Given the description of an element on the screen output the (x, y) to click on. 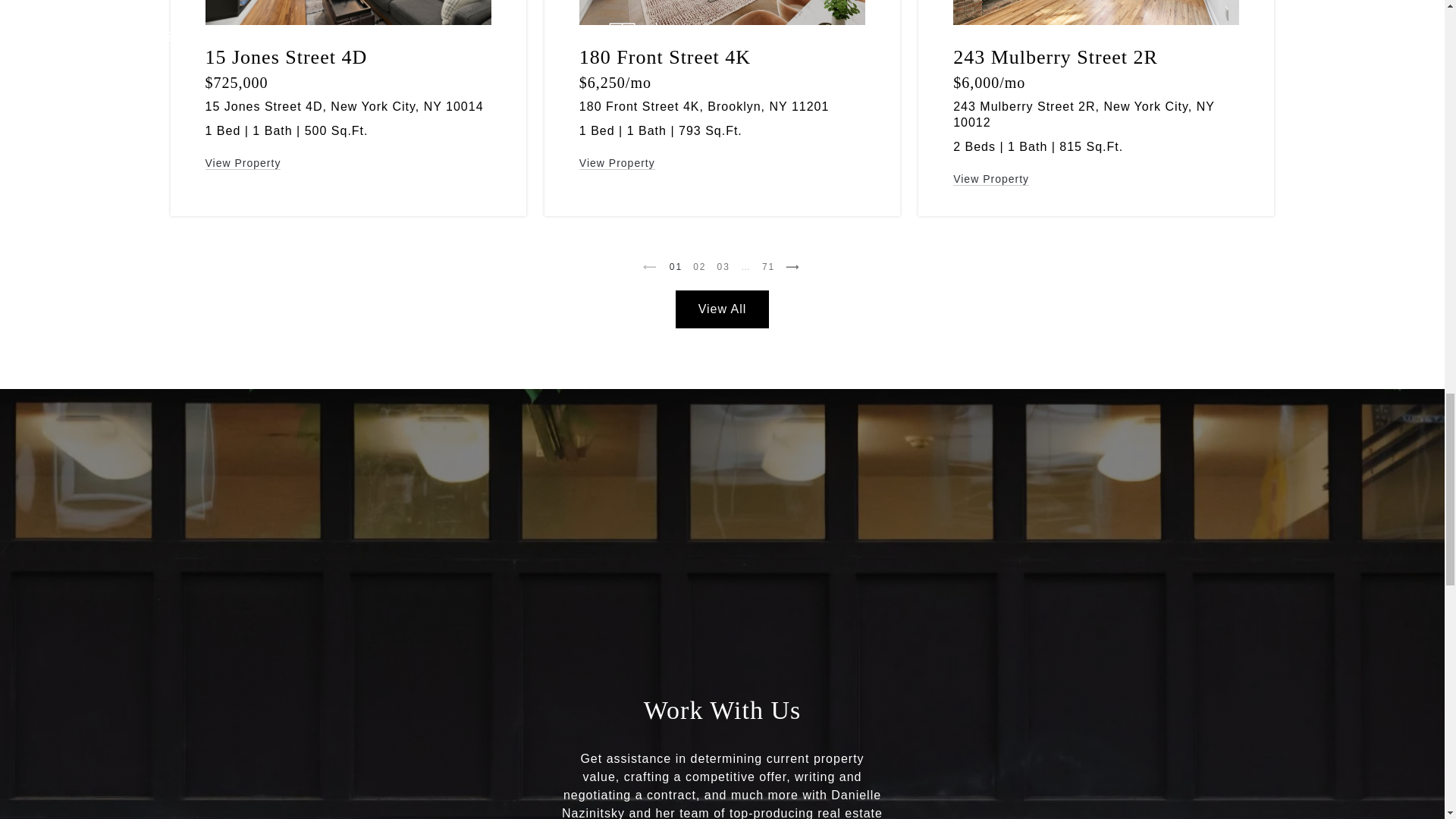
Next page (793, 266)
